Given the description of an element on the screen output the (x, y) to click on. 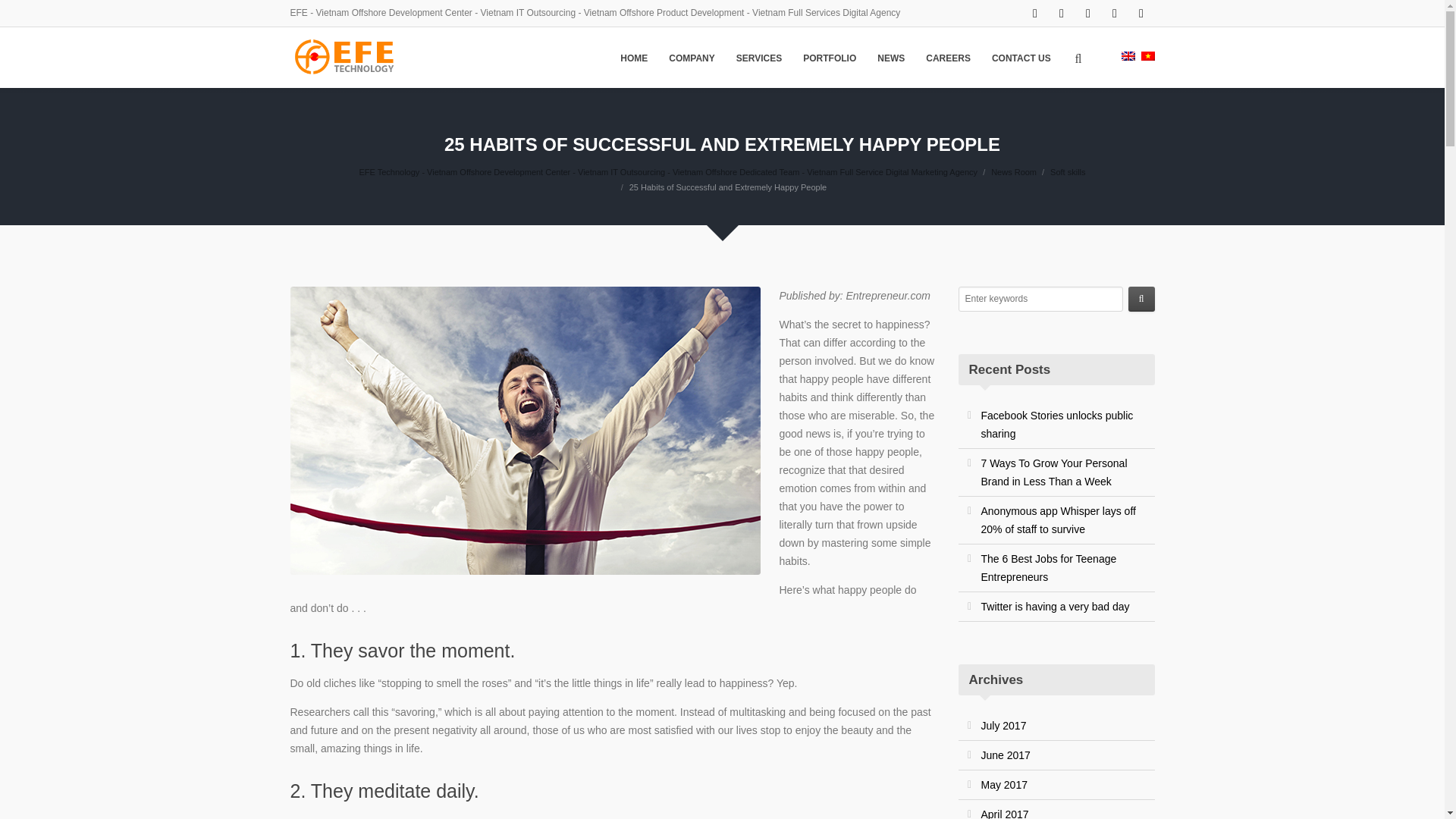
HOME (634, 57)
SERVICES (758, 57)
Go to the Soft skills Category archives. (1066, 171)
PORTFOLIO (829, 57)
CONTACT US (1021, 57)
Facebook Stories unlocks public sharing (1057, 424)
CAREERS (948, 57)
COMPANY (691, 57)
Soft skills (1066, 171)
NEWS (890, 57)
News Room (1013, 171)
Go to the News Room Category archives. (1013, 171)
